Given the description of an element on the screen output the (x, y) to click on. 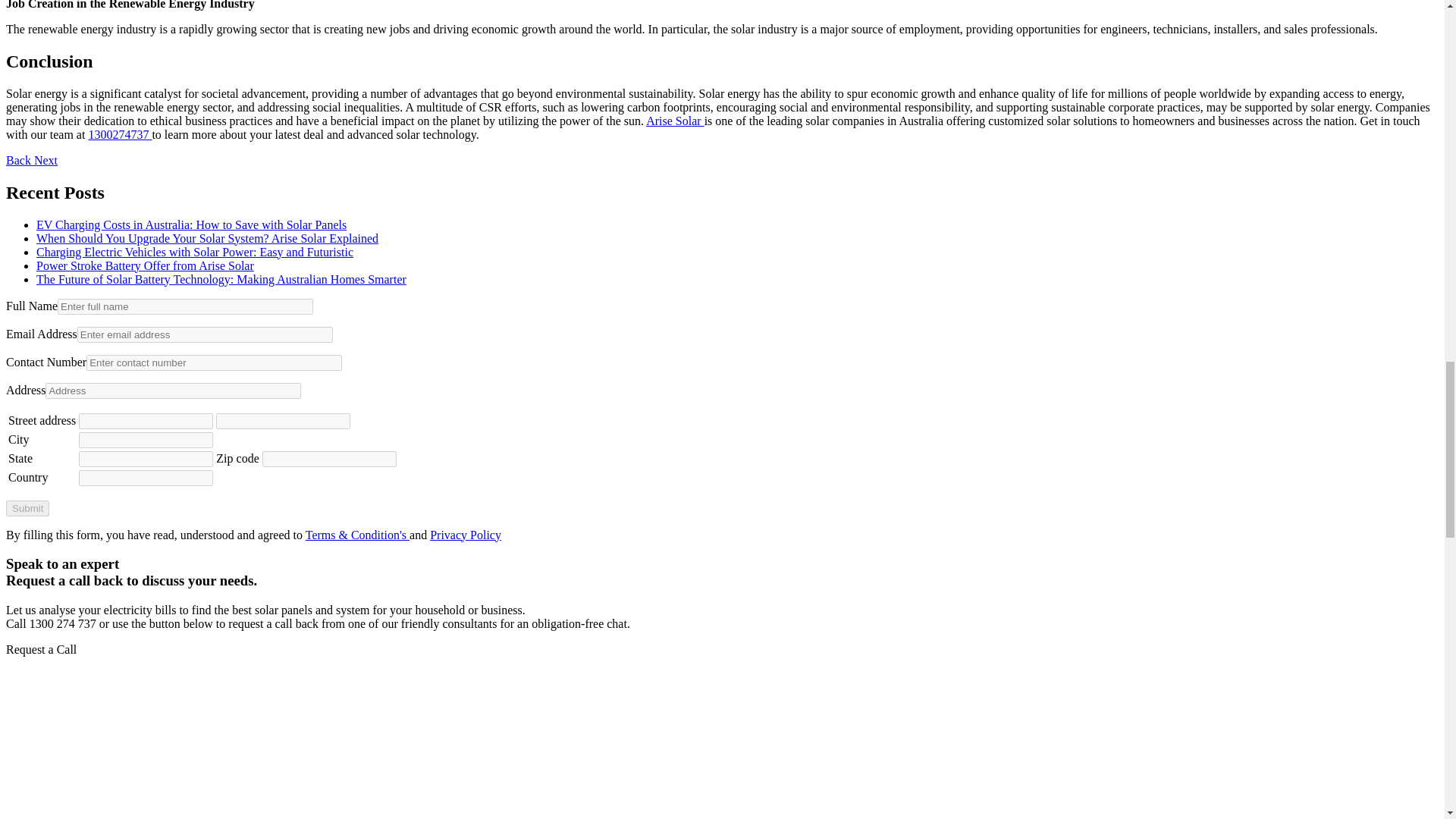
Submit (27, 508)
